Given the description of an element on the screen output the (x, y) to click on. 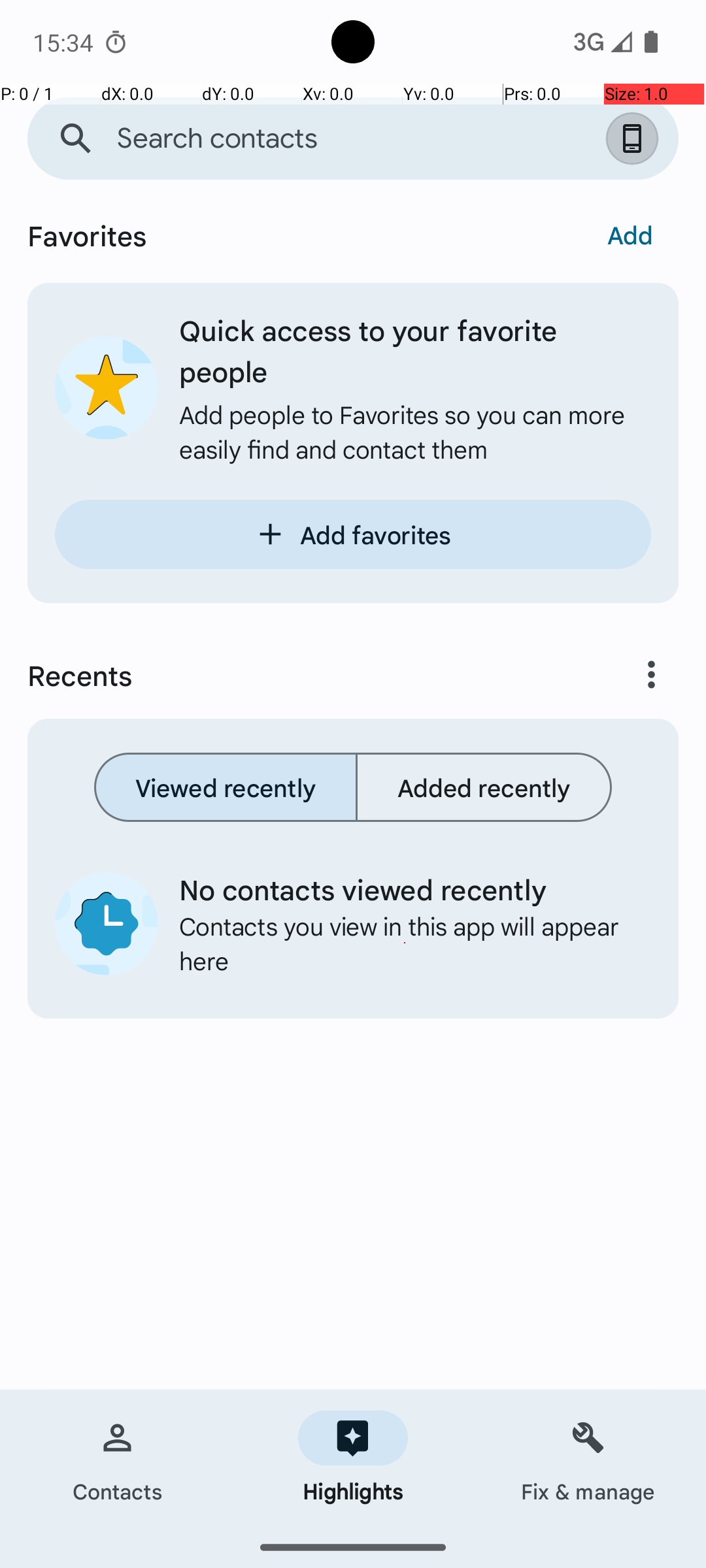
Quick access to your favorite people Element type: android.widget.TextView (415, 350)
Add people to Favorites so you can more easily find and contact them Element type: android.widget.TextView (415, 431)
Add favorites Element type: android.widget.Button (352, 534)
No contacts viewed recently Element type: android.widget.TextView (404, 888)
Contacts you view in this app will appear here Element type: android.widget.TextView (404, 942)
Viewed recently Element type: android.widget.CompoundButton (225, 787)
Added recently Element type: android.widget.CompoundButton (483, 787)
